Given the description of an element on the screen output the (x, y) to click on. 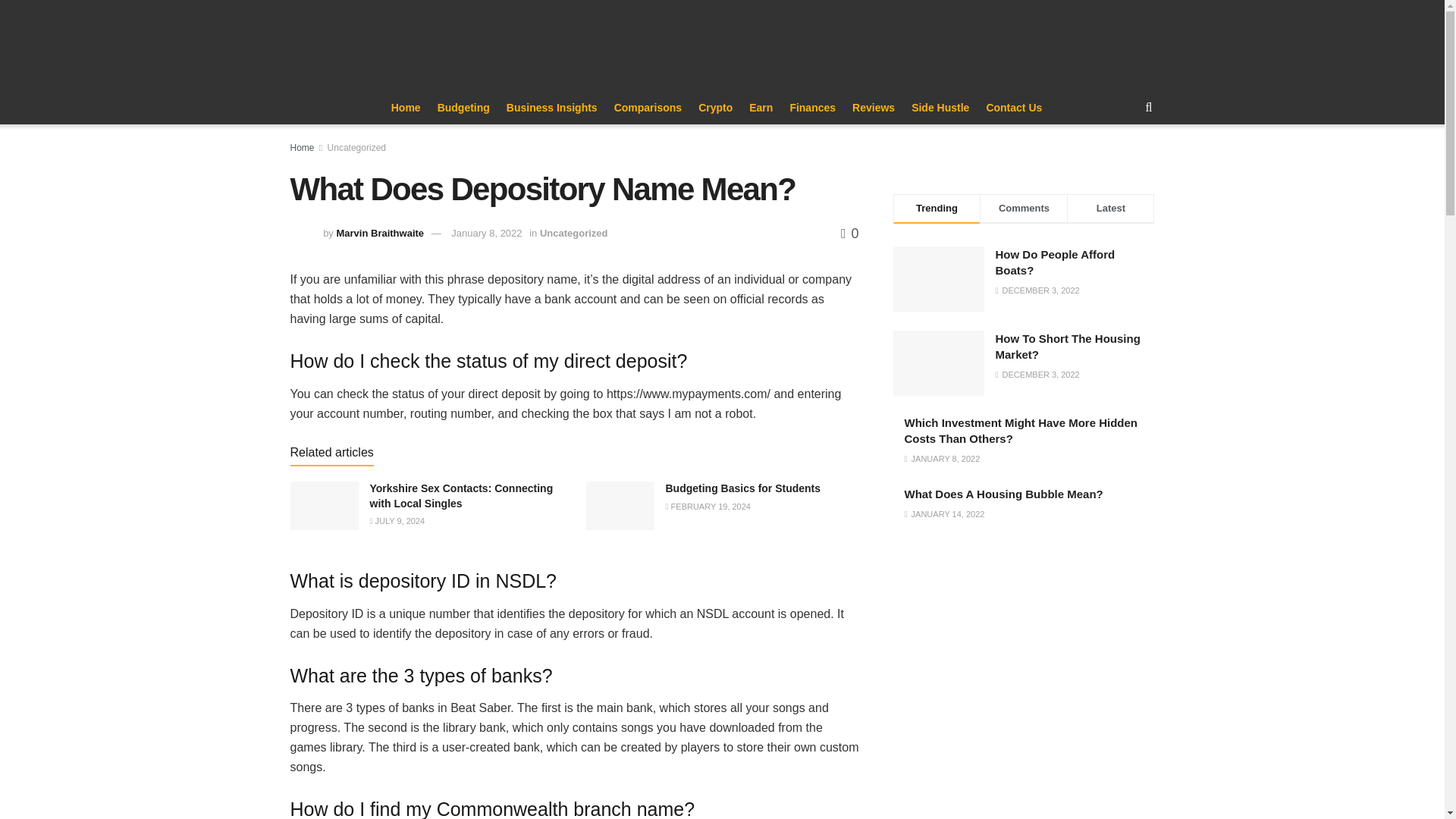
Yorkshire Sex Contacts: Connecting with Local Singles (461, 495)
Business Insights (551, 107)
Uncategorized (574, 233)
Earn (761, 107)
Finances (812, 107)
Budgeting Basics for Students (743, 488)
Contact Us (1013, 107)
January 8, 2022 (486, 233)
Home (301, 147)
Budgeting (463, 107)
Crypto (715, 107)
0 (850, 233)
JULY 9, 2024 (397, 520)
Comparisons (647, 107)
Home (405, 107)
